Given the description of an element on the screen output the (x, y) to click on. 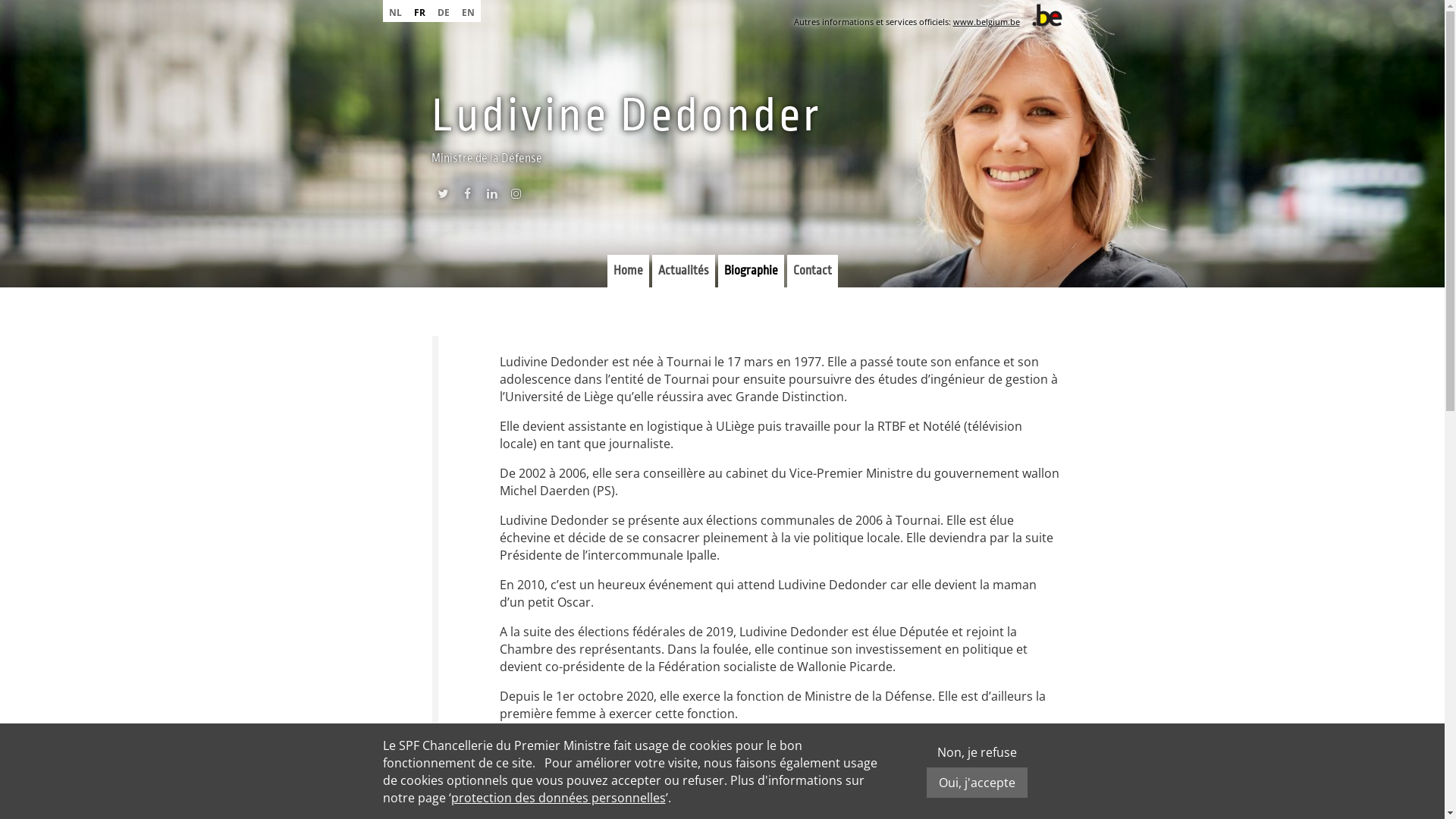
instagram Element type: text (515, 197)
Home Element type: text (627, 271)
twitter Element type: text (442, 197)
Non, je refuse Element type: text (977, 752)
Aller au contenu principal Element type: text (73, 0)
Oui, j'accepte Element type: text (976, 782)
FR Element type: text (419, 11)
DE Element type: text (442, 11)
NL Element type: text (394, 11)
EN Element type: text (467, 11)
www.belgium.be Element type: text (985, 21)
facebook Element type: text (467, 197)
Biographie Element type: text (750, 271)
Contact Element type: text (812, 271)
linkedin Element type: text (491, 197)
Ludivine Dedonder Element type: text (625, 115)
